Given the description of an element on the screen output the (x, y) to click on. 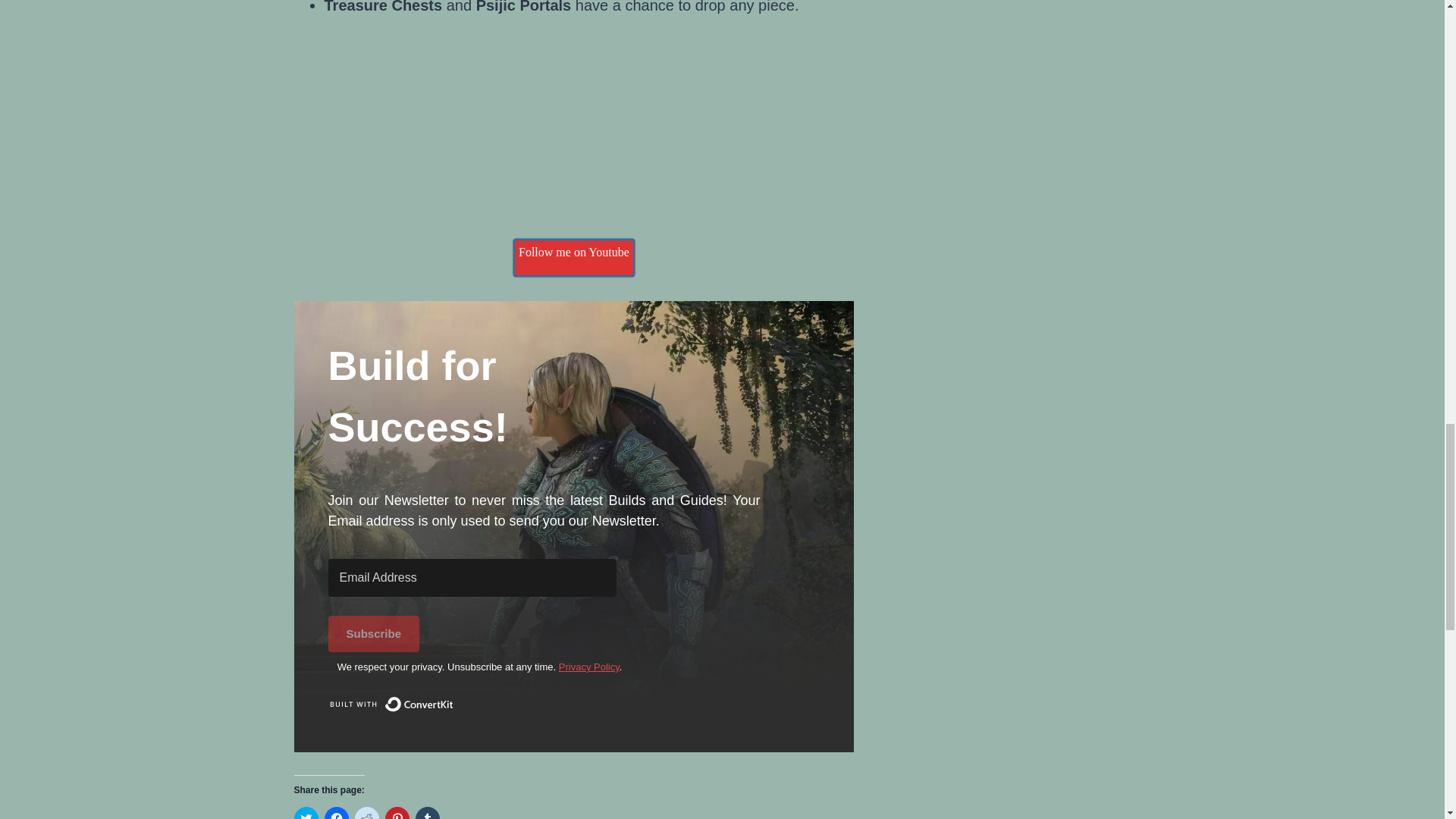
Click to share on Pinterest (397, 812)
Click to share on Twitter (306, 812)
Click to share on Tumblr (426, 812)
Click to share on Facebook (336, 812)
Click to share on Reddit (366, 812)
